Given the description of an element on the screen output the (x, y) to click on. 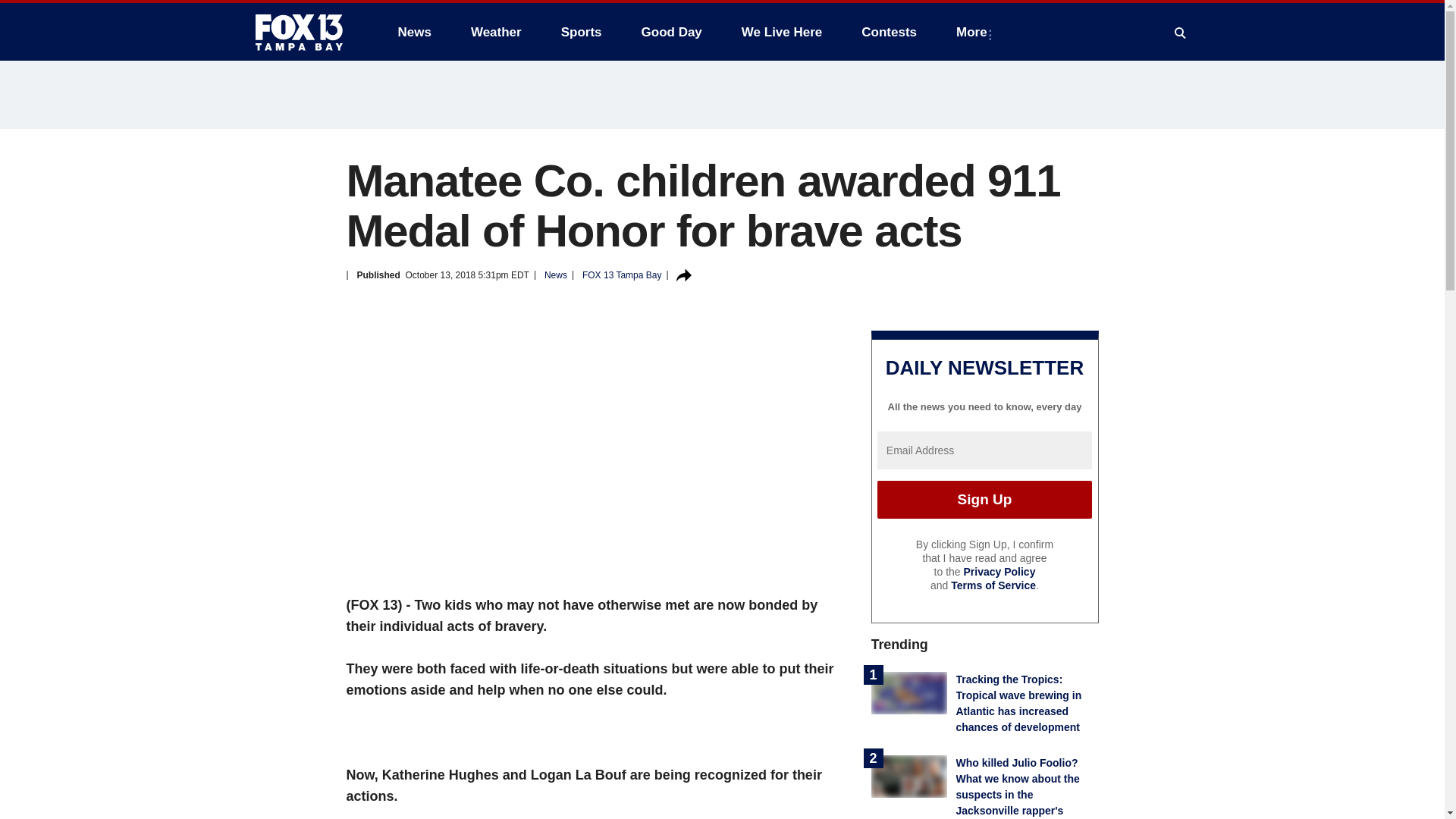
More (974, 32)
We Live Here (781, 32)
News (413, 32)
Sign Up (984, 499)
Weather (496, 32)
Contests (888, 32)
Good Day (671, 32)
Sports (581, 32)
